Given the description of an element on the screen output the (x, y) to click on. 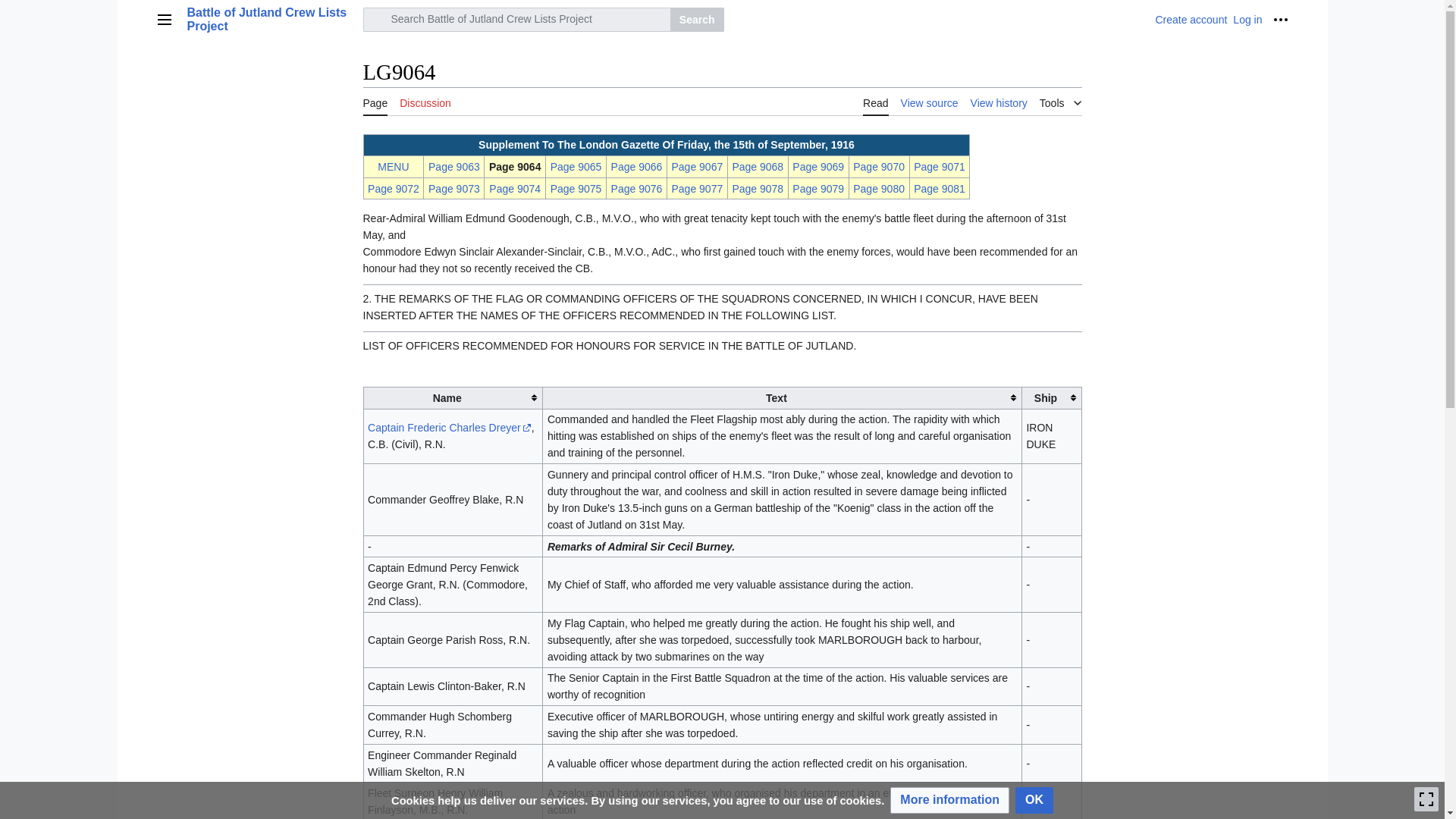
Read (875, 101)
View source (929, 101)
Create account (1190, 19)
More options (1280, 19)
Page 9064 (515, 166)
MENU (393, 166)
Page (374, 101)
Page 9063 (454, 166)
Battle of Jutland Crew Lists Project (270, 19)
View history (999, 101)
